Given the description of an element on the screen output the (x, y) to click on. 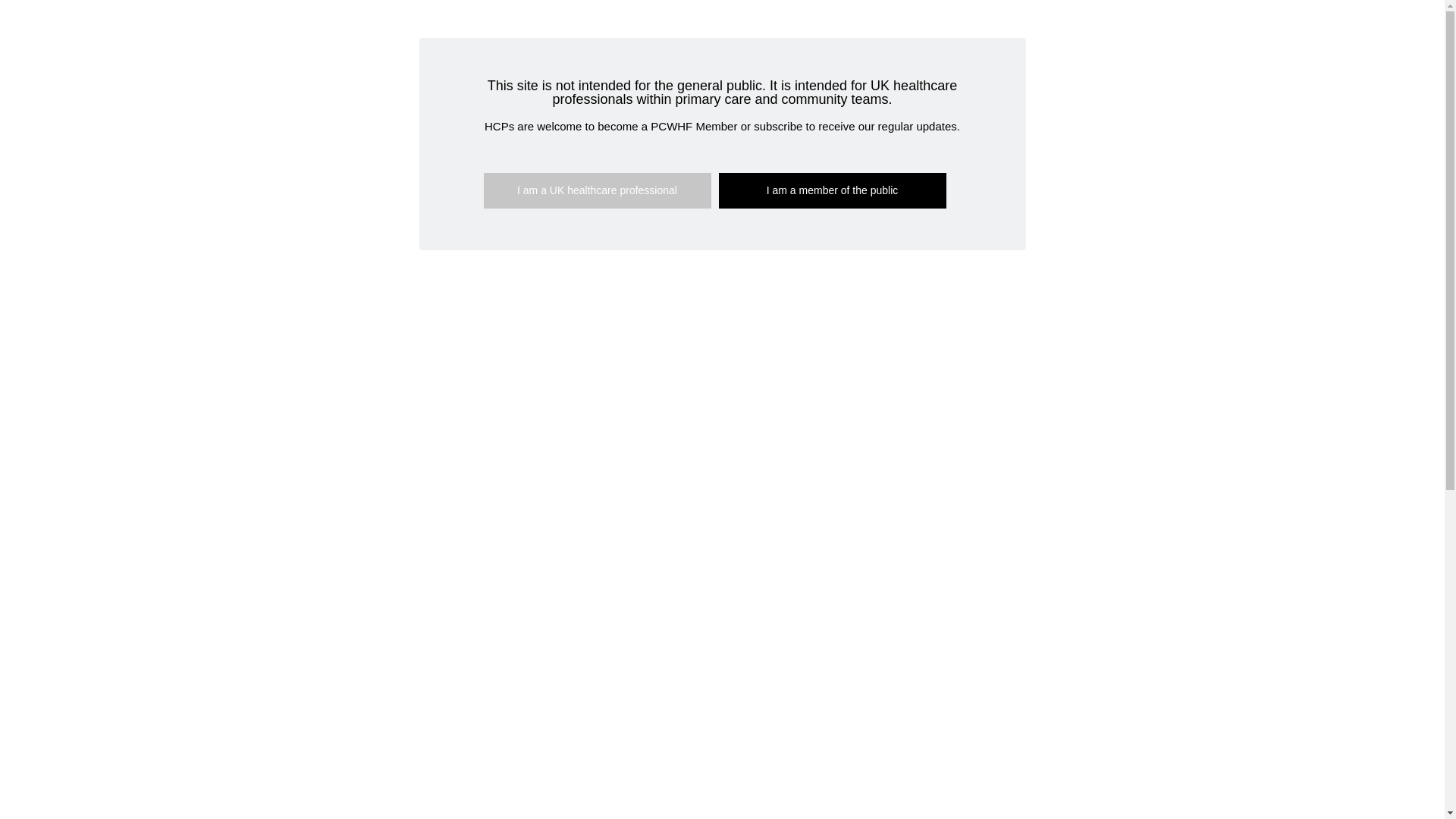
Follow on Facebook (322, 47)
Membership (673, 55)
0 Items (896, 52)
Follow on X (352, 47)
Subscribe (755, 55)
Contact us (834, 55)
